Given the description of an element on the screen output the (x, y) to click on. 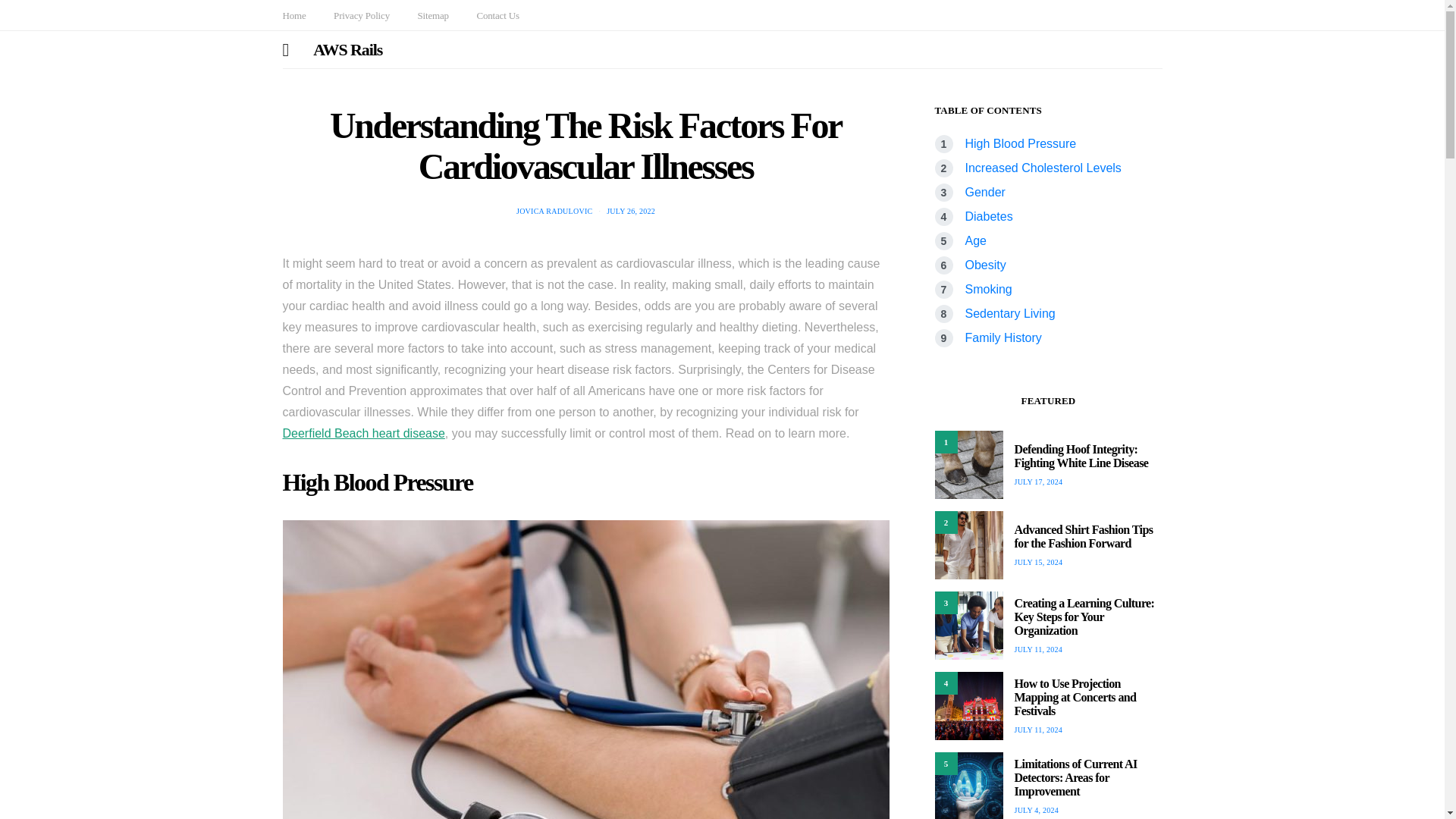
High Blood Pressure (1019, 143)
Privacy Policy (361, 15)
Increased Cholesterol Levels (1042, 167)
Sitemap (432, 15)
Gender (983, 192)
Contact Us (497, 15)
Diabetes (987, 215)
JULY 26, 2022 (631, 211)
JOVICA RADULOVIC (554, 211)
AWS Rails (347, 49)
View all posts by Jovica Radulovic (554, 211)
Home (293, 15)
Deerfield Beach heart disease (363, 432)
